Given the description of an element on the screen output the (x, y) to click on. 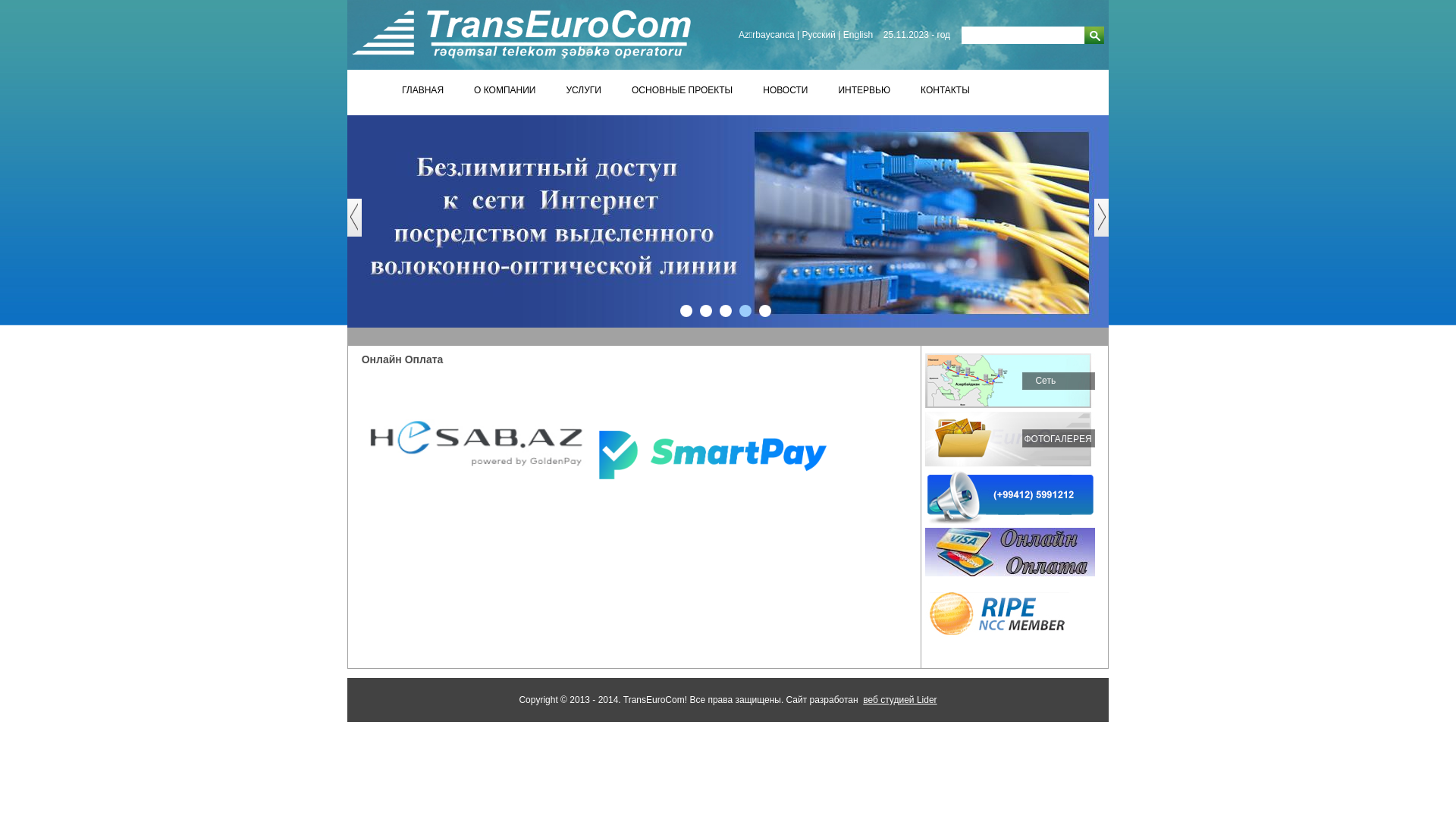
5 Element type: text (765, 310)
Prev Element type: text (361, 224)
  Element type: text (1094, 34)
English Element type: text (857, 34)
4 Element type: text (745, 310)
2 Element type: text (705, 310)
3 Element type: text (725, 310)
Next Element type: text (1108, 224)
1 Element type: text (686, 310)
